Given the description of an element on the screen output the (x, y) to click on. 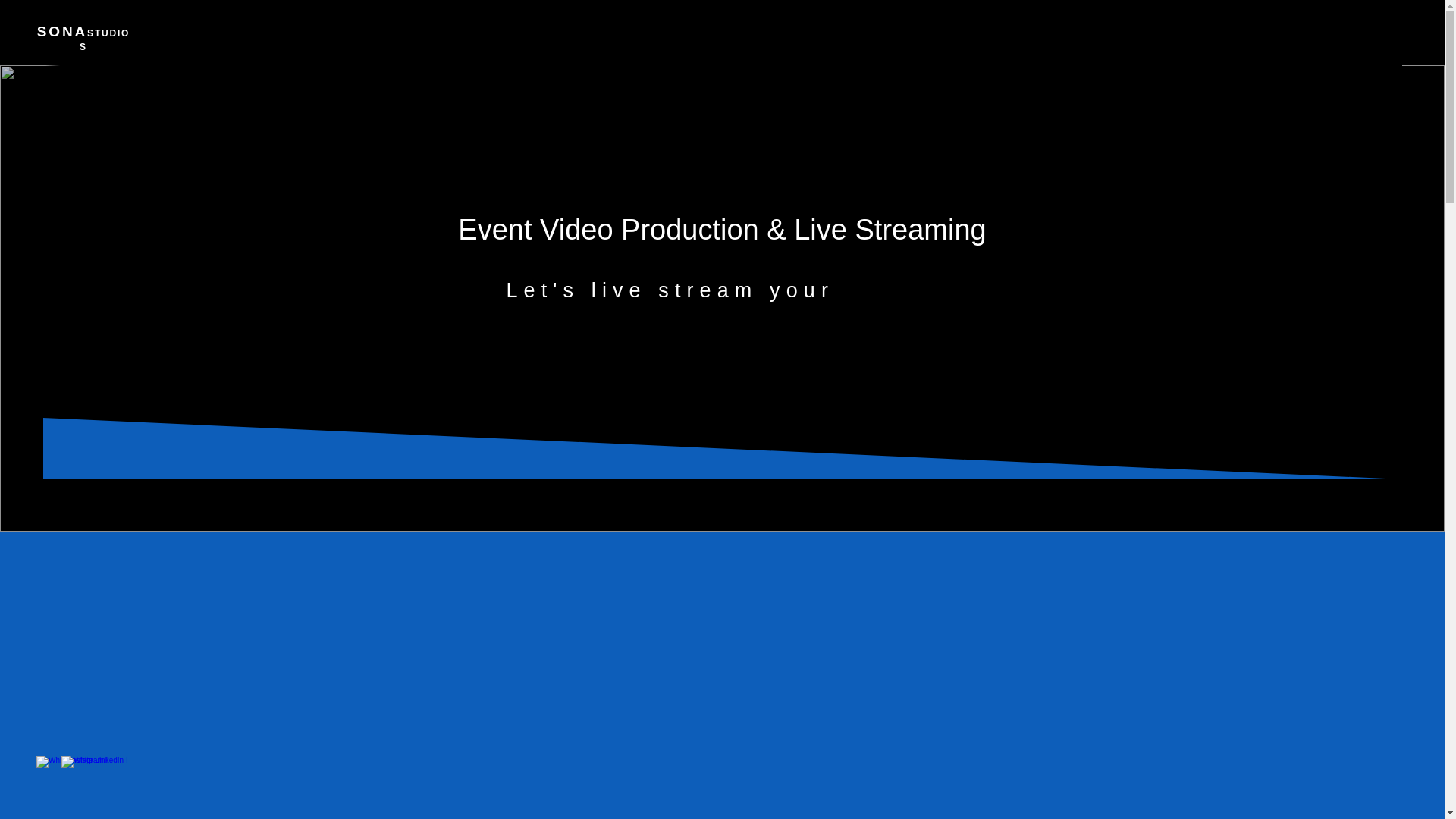
SONA (62, 31)
STUDIOS (104, 39)
